Given the description of an element on the screen output the (x, y) to click on. 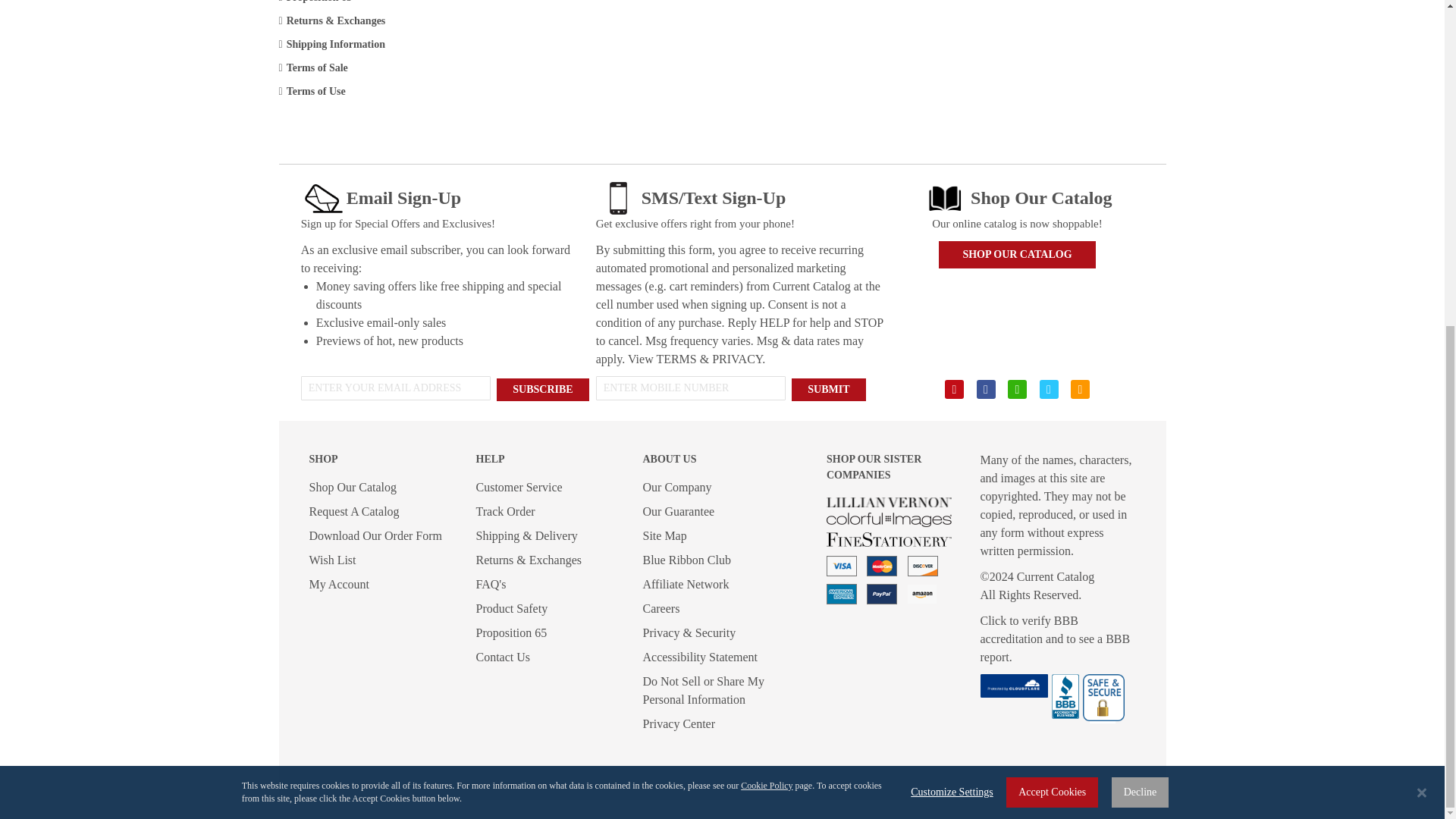
Request A Catalog (353, 511)
PDF Order Form (375, 535)
My Account (338, 584)
Shop Our Catalog (352, 487)
facebook (985, 389)
blog (1016, 389)
Submit (828, 389)
pinterest (953, 389)
instagram (1079, 389)
Wish List (332, 560)
twitter (1048, 389)
Subscribe (542, 389)
